Given the description of an element on the screen output the (x, y) to click on. 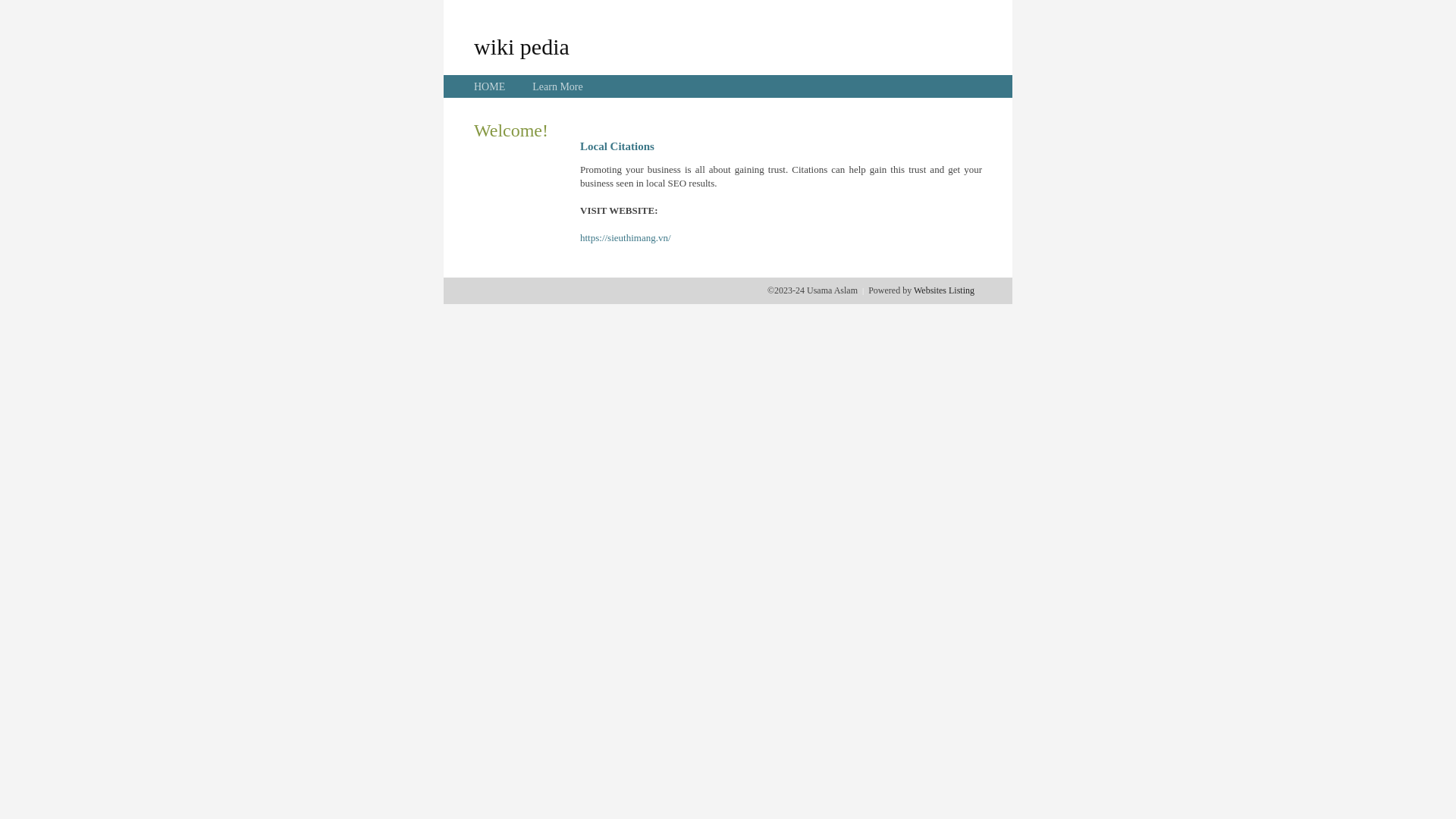
Websites Listing Element type: text (943, 290)
wiki pedia Element type: text (521, 46)
HOME Element type: text (489, 86)
Learn More Element type: text (557, 86)
https://sieuthimang.vn/ Element type: text (625, 237)
